Given the description of an element on the screen output the (x, y) to click on. 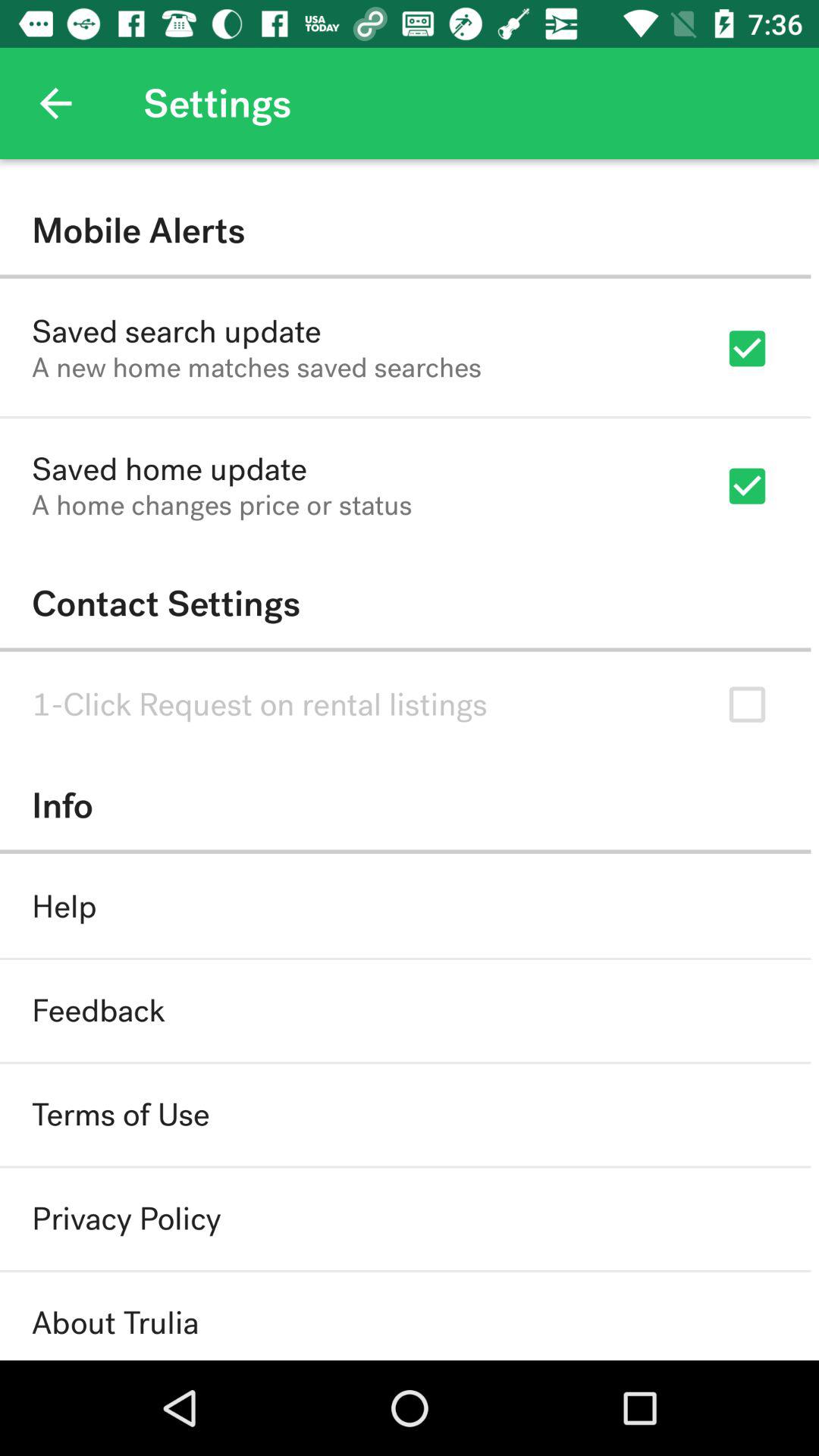
swipe to about trulia (115, 1323)
